Given the description of an element on the screen output the (x, y) to click on. 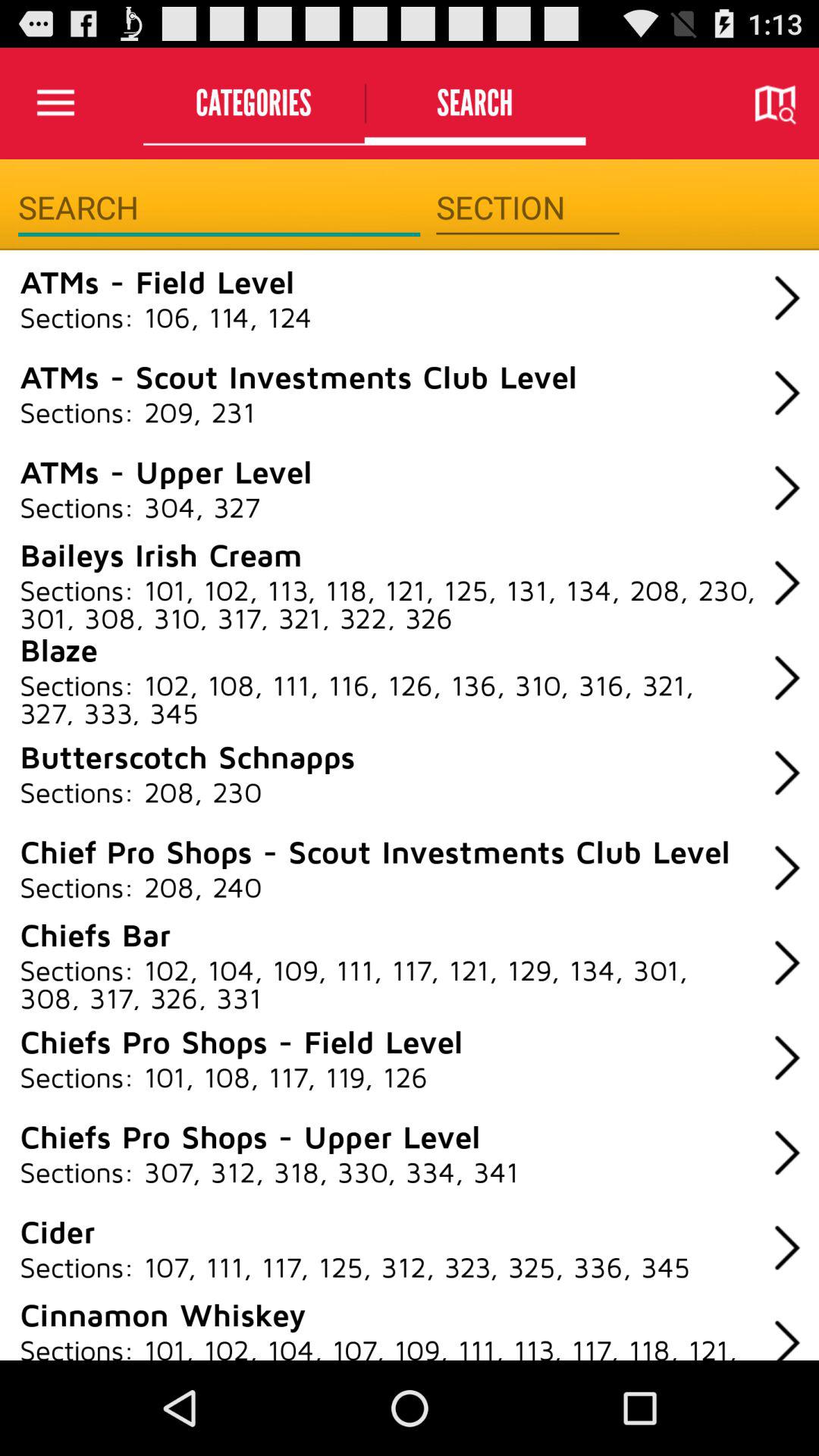
tap the item below sections 307 312 (56, 1231)
